Given the description of an element on the screen output the (x, y) to click on. 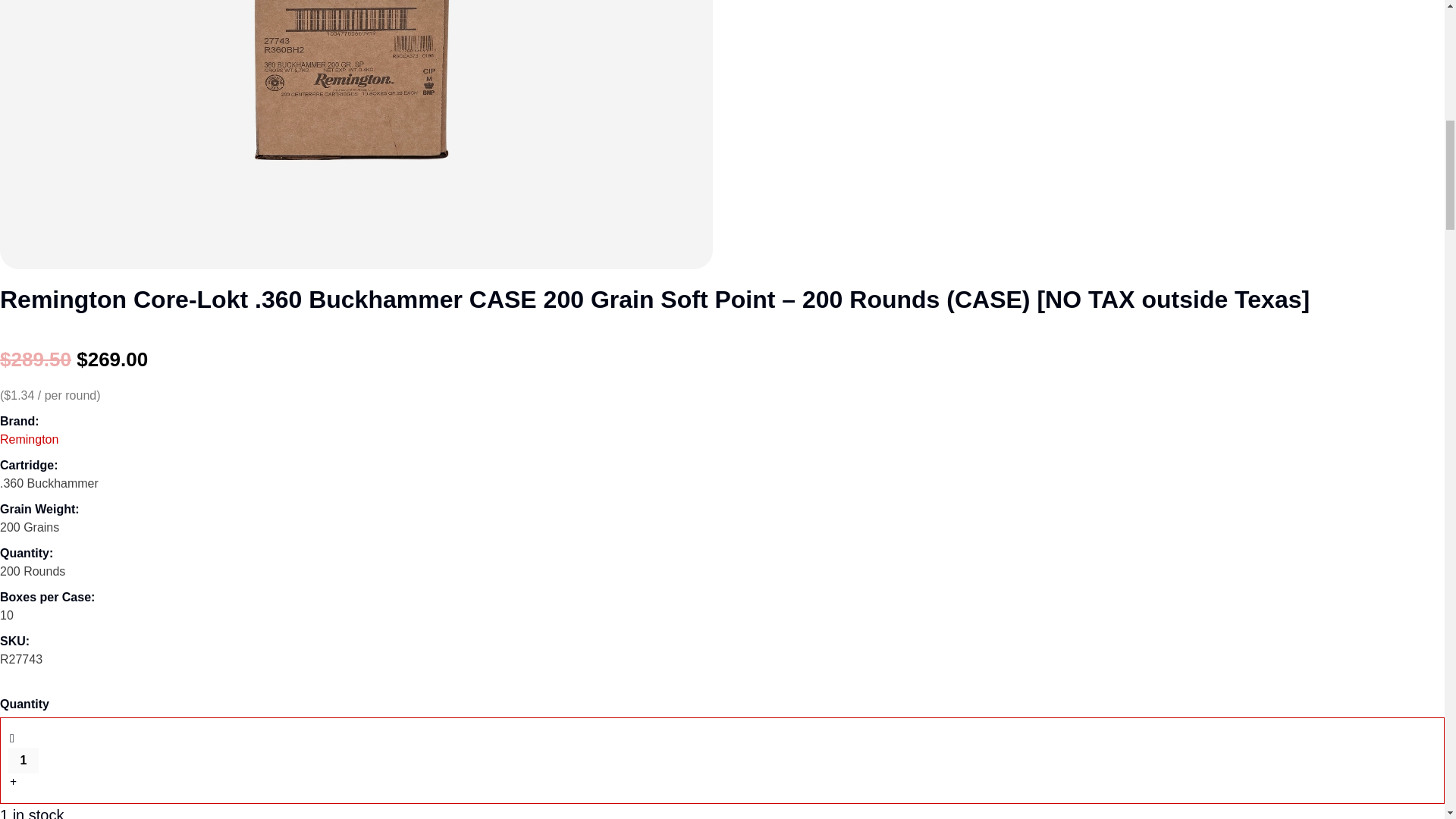
Remington (29, 439)
1 (23, 760)
